Given the description of an element on the screen output the (x, y) to click on. 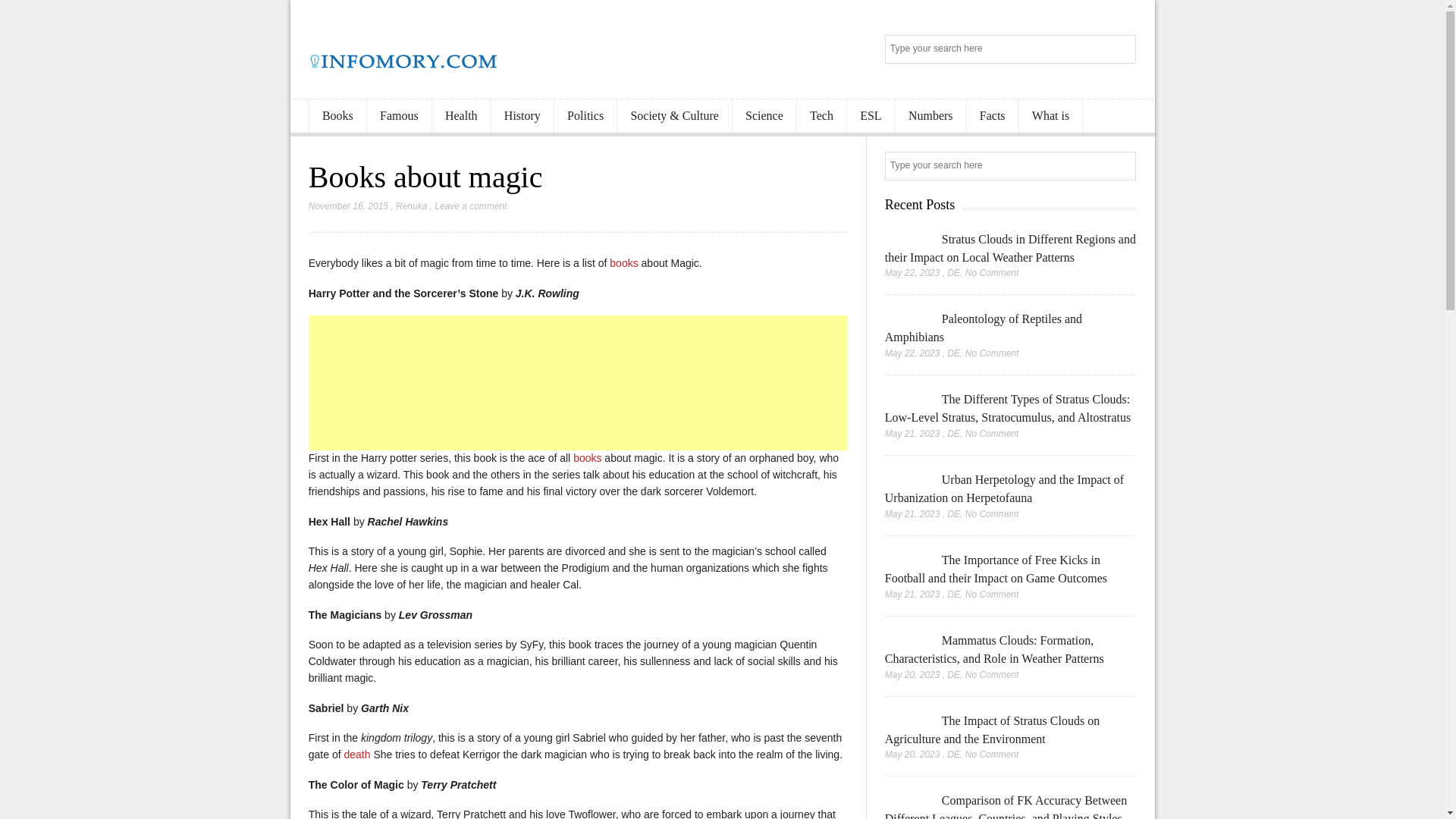
BOOKS ON THE WEIGHTY BATTLE AGAINST ANOREXIA (623, 263)
ESL (871, 116)
Health (461, 116)
Renuka (411, 205)
Science (764, 116)
books (587, 458)
No Comment (992, 272)
Search (1123, 167)
Posts by Renuka (411, 205)
BOOKS ABOUT SERIAL KILLERS (587, 458)
Famous (398, 116)
books (623, 263)
DE (953, 272)
